Given the description of an element on the screen output the (x, y) to click on. 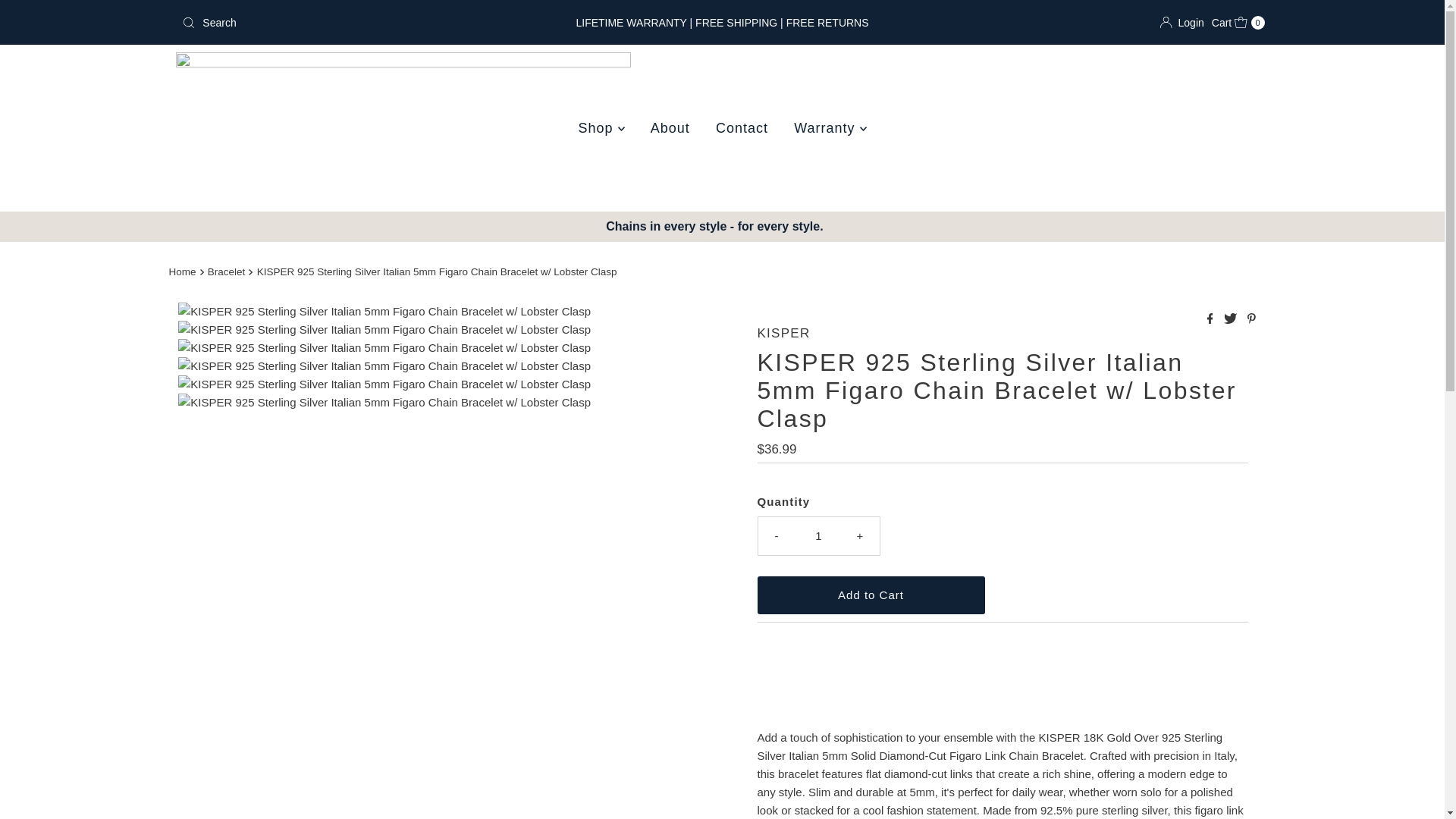
Bracelet (228, 271)
Add to Cart (870, 595)
Bracelet (228, 271)
  Login (1182, 22)
1 (818, 535)
Home (1238, 22)
Share on Twitter (183, 271)
Contact (1232, 318)
Back to the frontpage (741, 127)
